Given the description of an element on the screen output the (x, y) to click on. 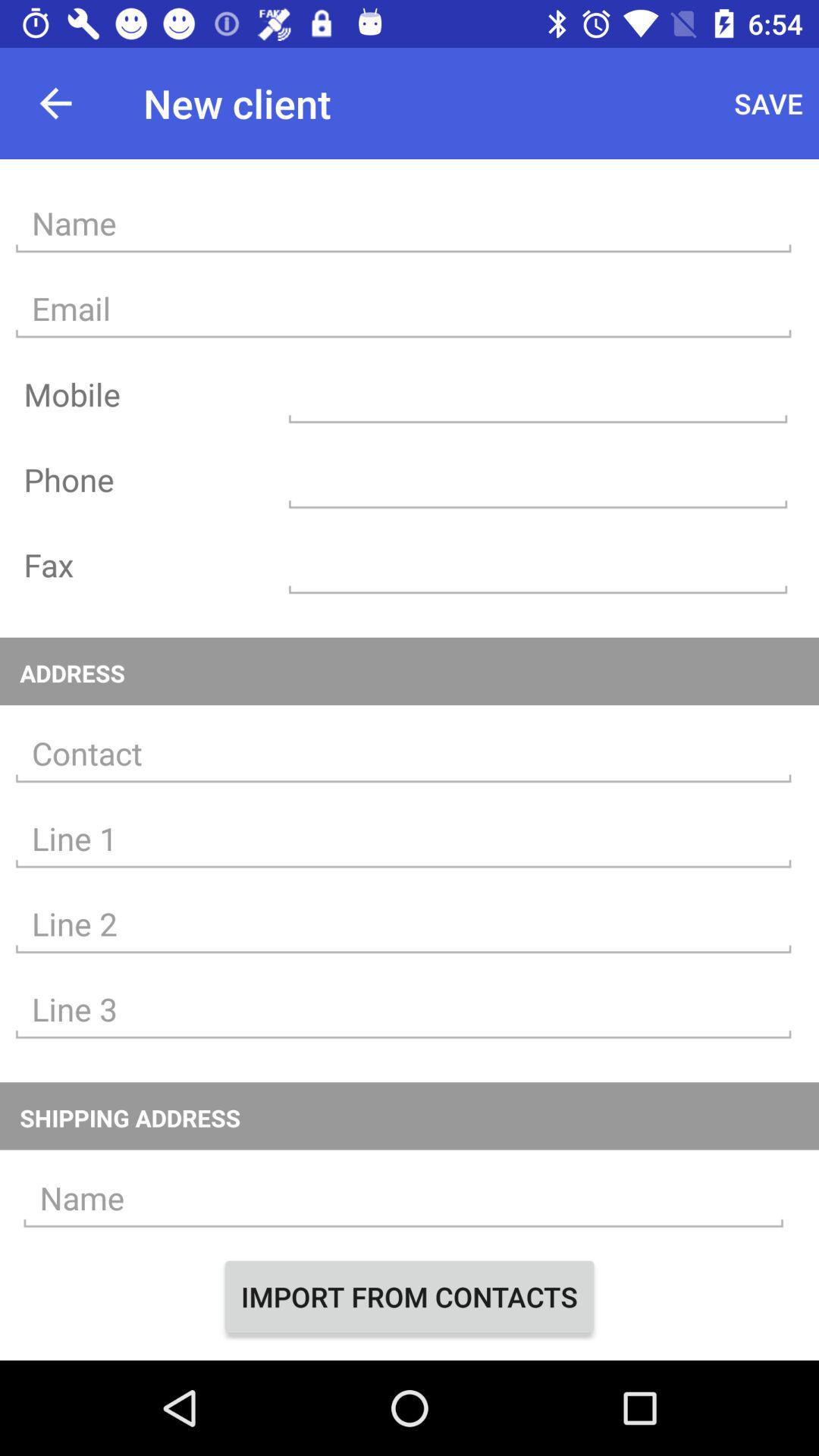
address line 2 (403, 924)
